Given the description of an element on the screen output the (x, y) to click on. 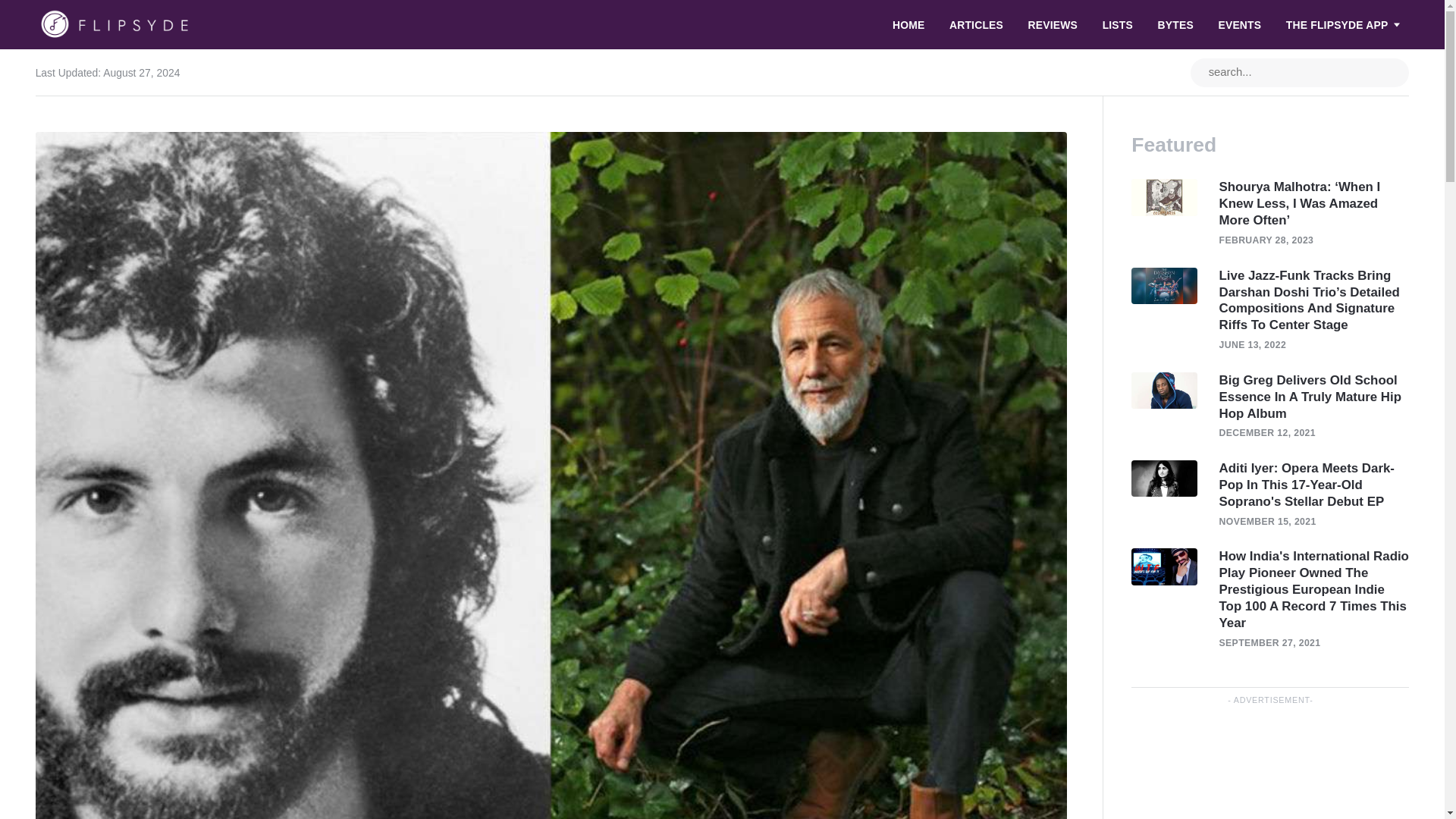
ARTICLES (976, 24)
HOME (908, 24)
EVENTS (1240, 24)
BYTES (1175, 24)
Advertisement (1270, 767)
REVIEWS (1052, 24)
THE FLIPSYDE APP (1342, 24)
LISTS (1117, 24)
